Given the description of an element on the screen output the (x, y) to click on. 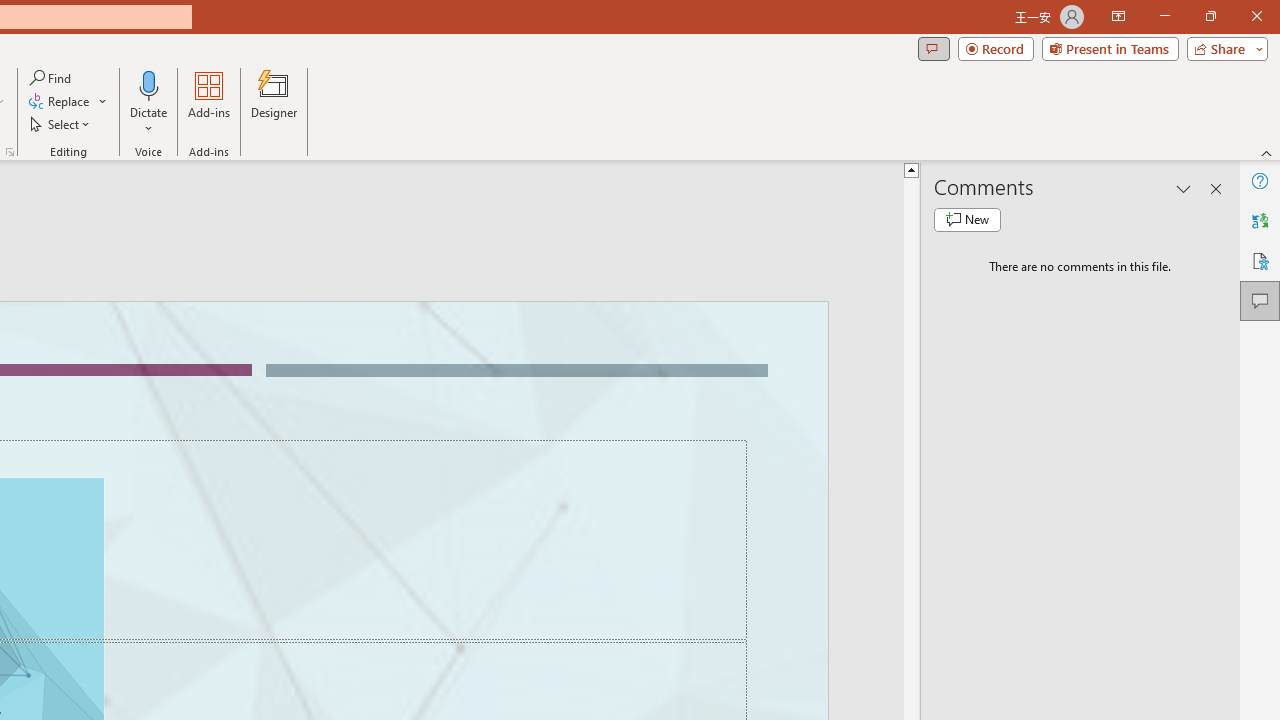
New comment (967, 219)
